Given the description of an element on the screen output the (x, y) to click on. 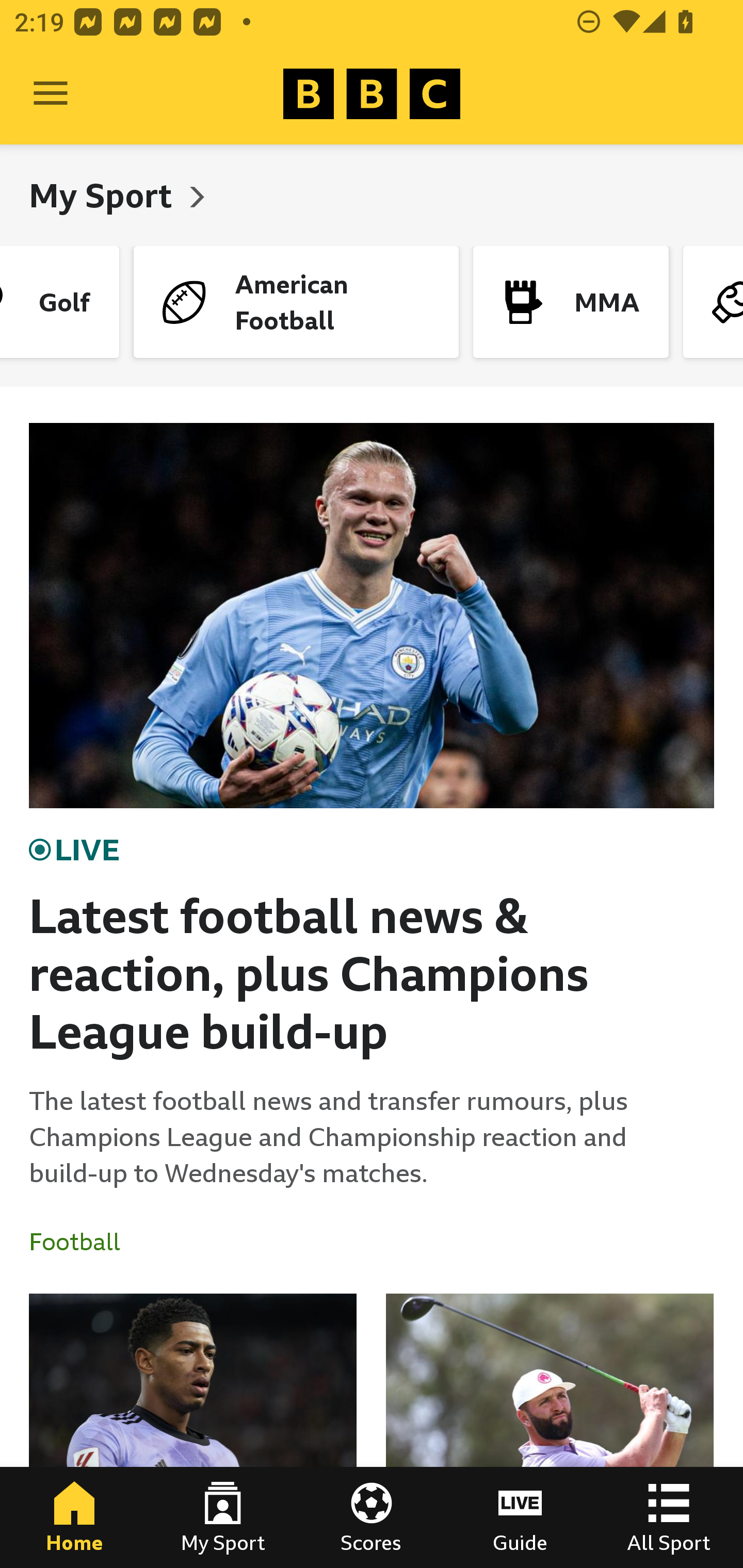
Open Menu (50, 93)
My Sport (104, 195)
Football In the section Football (81, 1241)
Real midfielder Bellingham banned for two games (192, 1430)
My Sport (222, 1517)
Scores (371, 1517)
Guide (519, 1517)
All Sport (668, 1517)
